Given the description of an element on the screen output the (x, y) to click on. 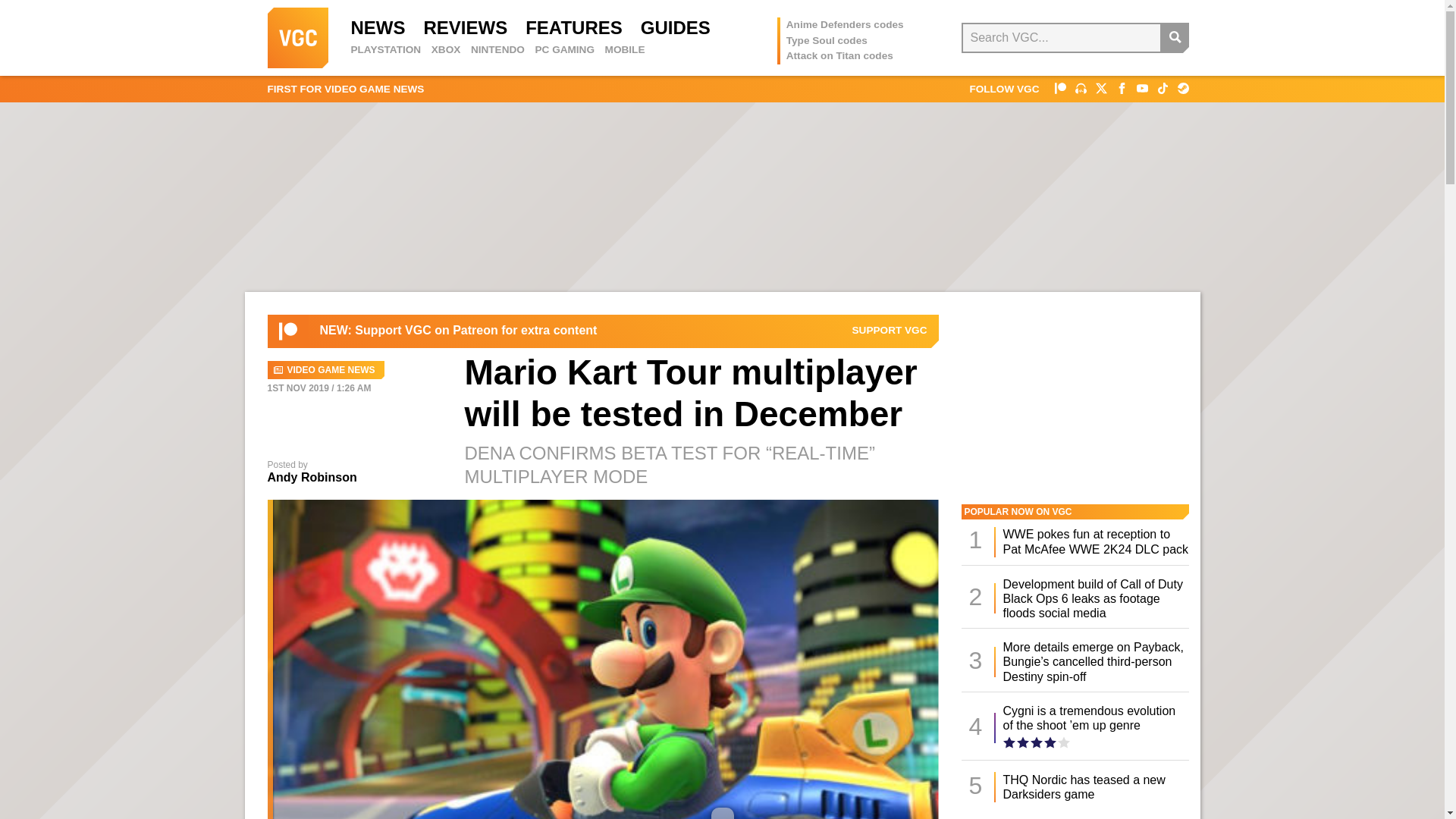
NEWS (377, 27)
Anime Defenders codes (845, 24)
PC GAMING (564, 49)
REVIEWS (464, 27)
XBOX (445, 49)
VGC on Patreon (889, 330)
NINTENDO (497, 49)
VGC on Patreon (288, 331)
MOBILE (625, 49)
GUIDES (675, 27)
